Given the description of an element on the screen output the (x, y) to click on. 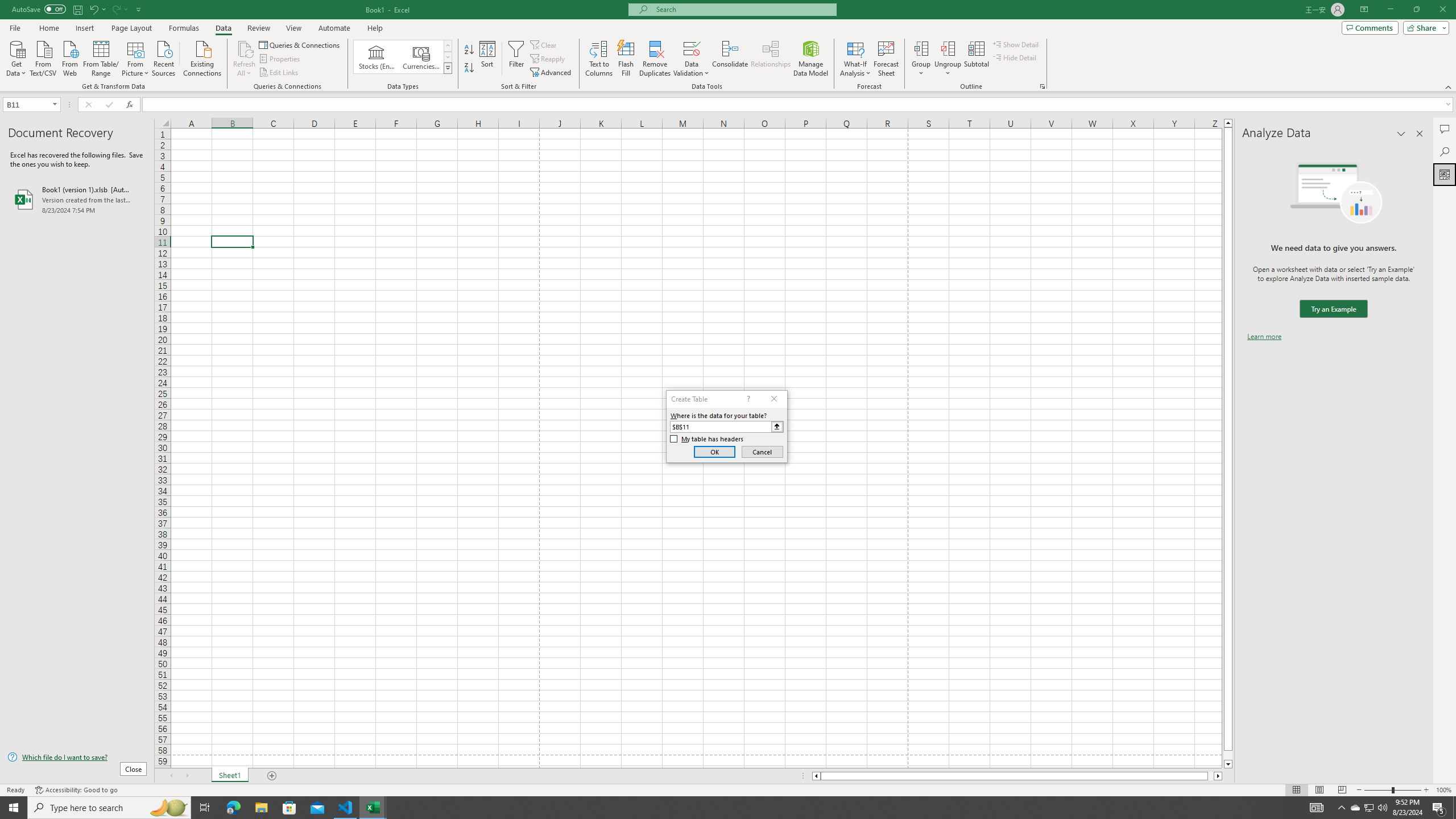
Close (1442, 9)
System (6, 6)
Minimize (1390, 9)
Undo (92, 9)
Data Validation... (691, 58)
Class: MsoCommandBar (728, 45)
Book1 (version 1).xlsb  [AutoRecovered] (77, 199)
Class: NetUIImage (447, 68)
Formula Bar (799, 104)
Close pane (1419, 133)
Name Box (30, 104)
Name Box (27, 104)
Class: NetUIScrollBar (1016, 775)
Refresh All (244, 48)
Data (223, 28)
